Given the description of an element on the screen output the (x, y) to click on. 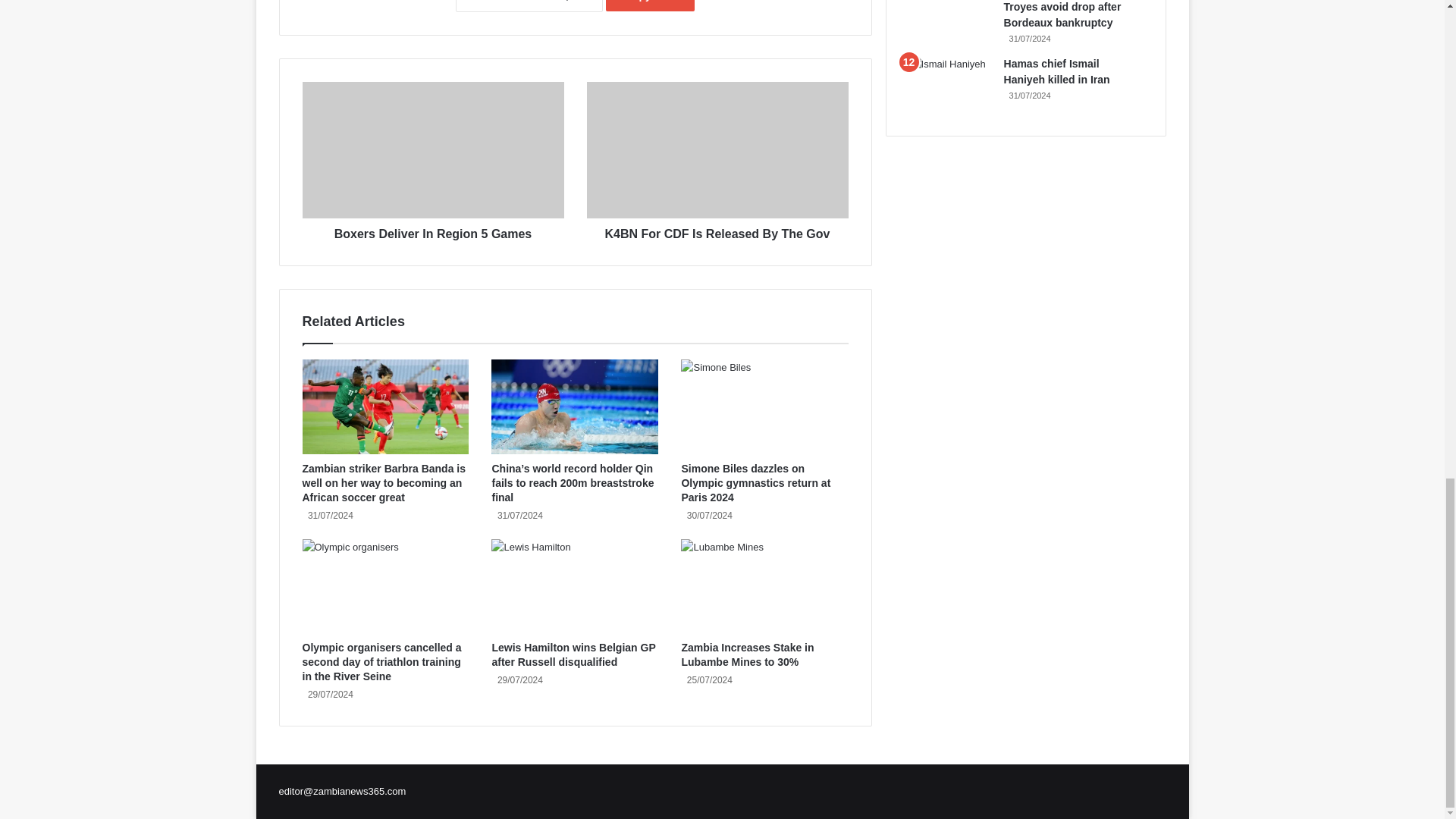
Copy URL (650, 5)
Boxers Deliver In Region 5 Games (432, 149)
Lewis Hamilton wins Belgian GP after Russell disqualified (573, 654)
K4BN For CDF Is Released By The Gov (717, 230)
K4BN For CDF Is Released By The Gov (717, 149)
Boxers Deliver In Region 5 Games (432, 230)
